Given the description of an element on the screen output the (x, y) to click on. 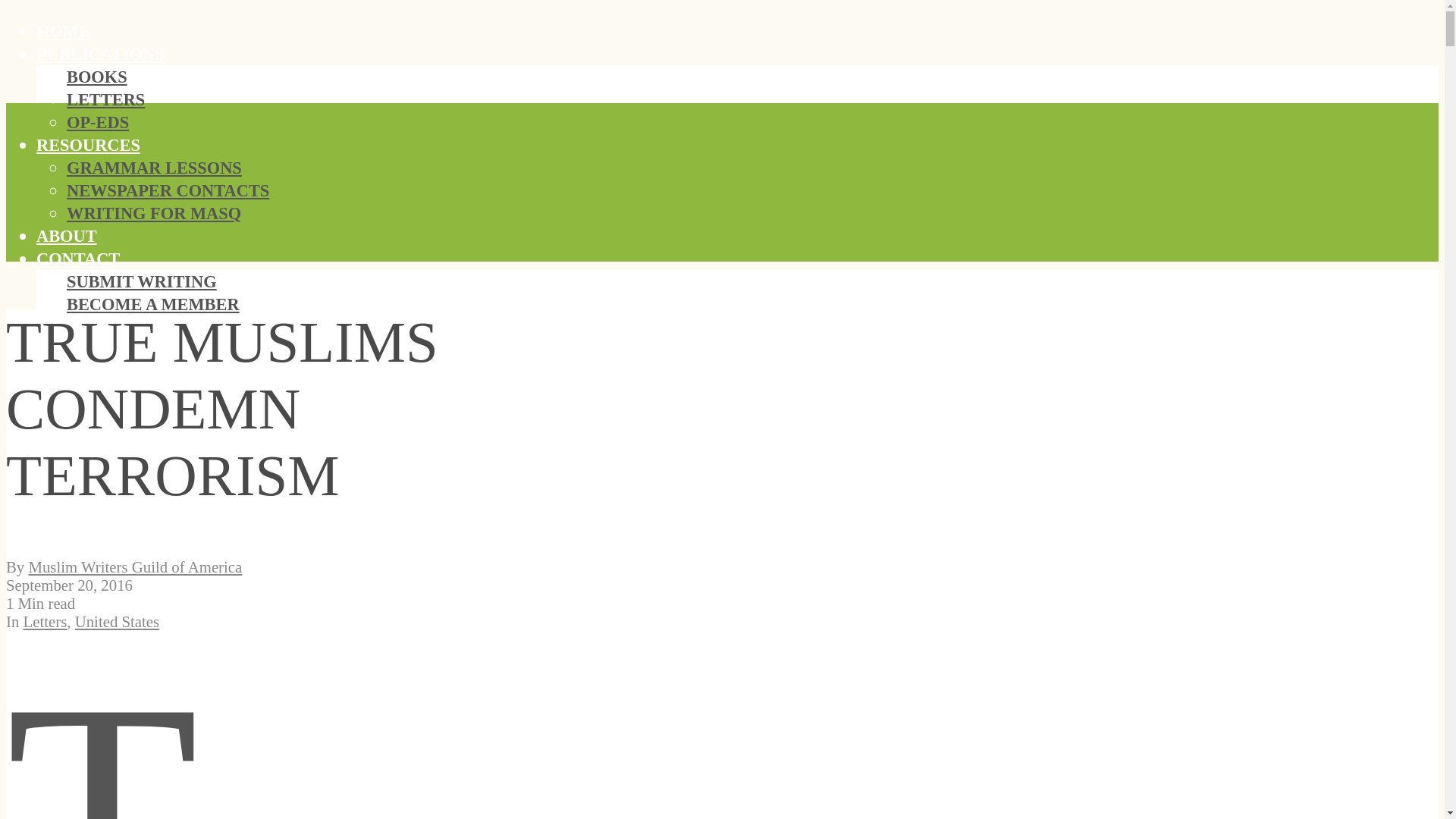
LETTERS (105, 99)
CONTACT (77, 258)
BECOME A MEMBER (153, 303)
United States (116, 620)
OP-EDS (97, 122)
BOOKS (97, 76)
ABOUT (66, 235)
WRITING FOR MASQ (153, 212)
GRAMMAR LESSONS (153, 167)
HOME (63, 31)
SUBMIT WRITING (141, 281)
Letters (44, 620)
RESOURCES (87, 144)
Muslim Writers Guild of America (134, 566)
NEWSPAPER CONTACTS (167, 189)
